Given the description of an element on the screen output the (x, y) to click on. 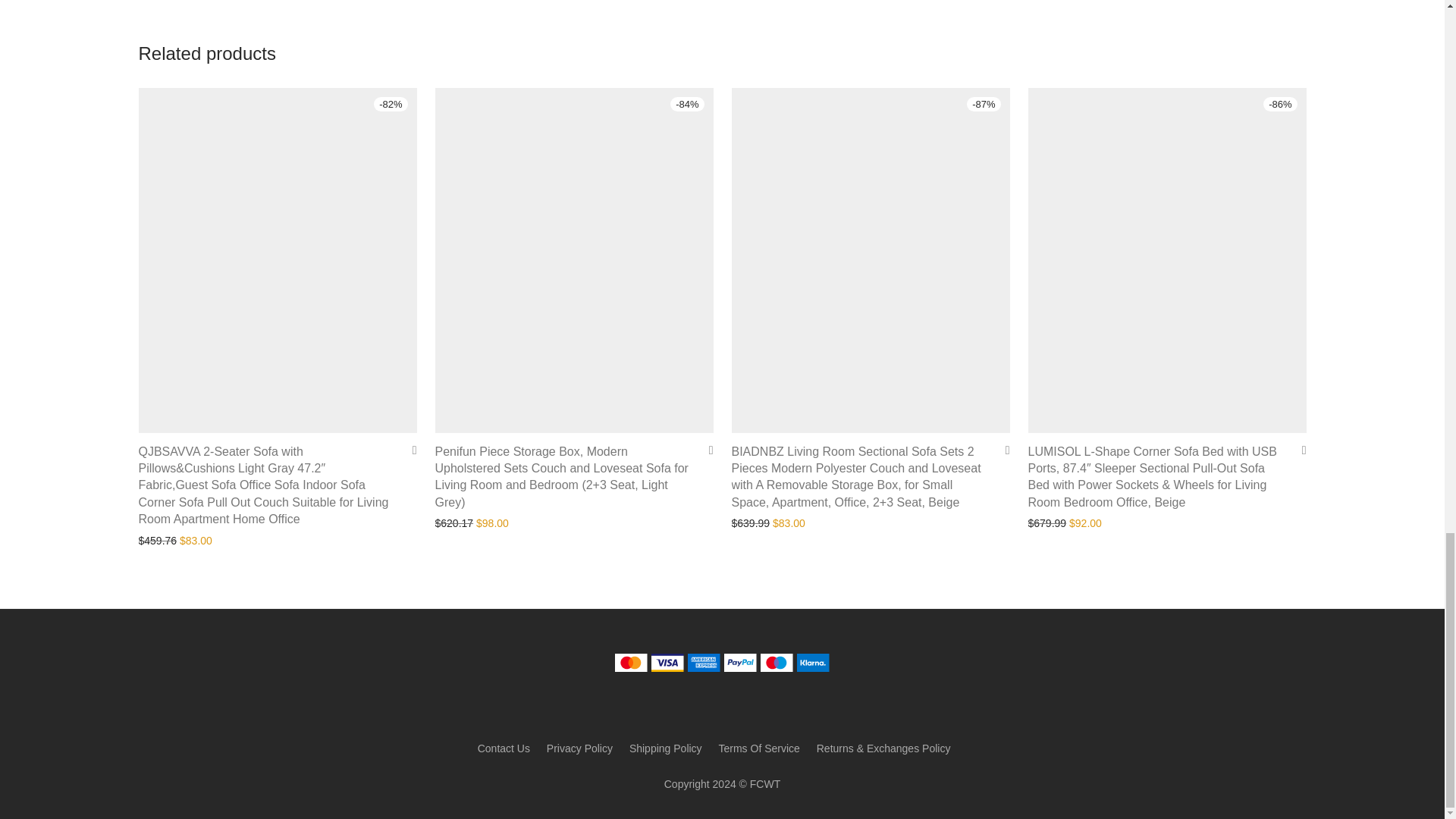
Add to Wishlist (408, 449)
Add to Wishlist (1001, 449)
Add to Wishlist (705, 449)
